Given the description of an element on the screen output the (x, y) to click on. 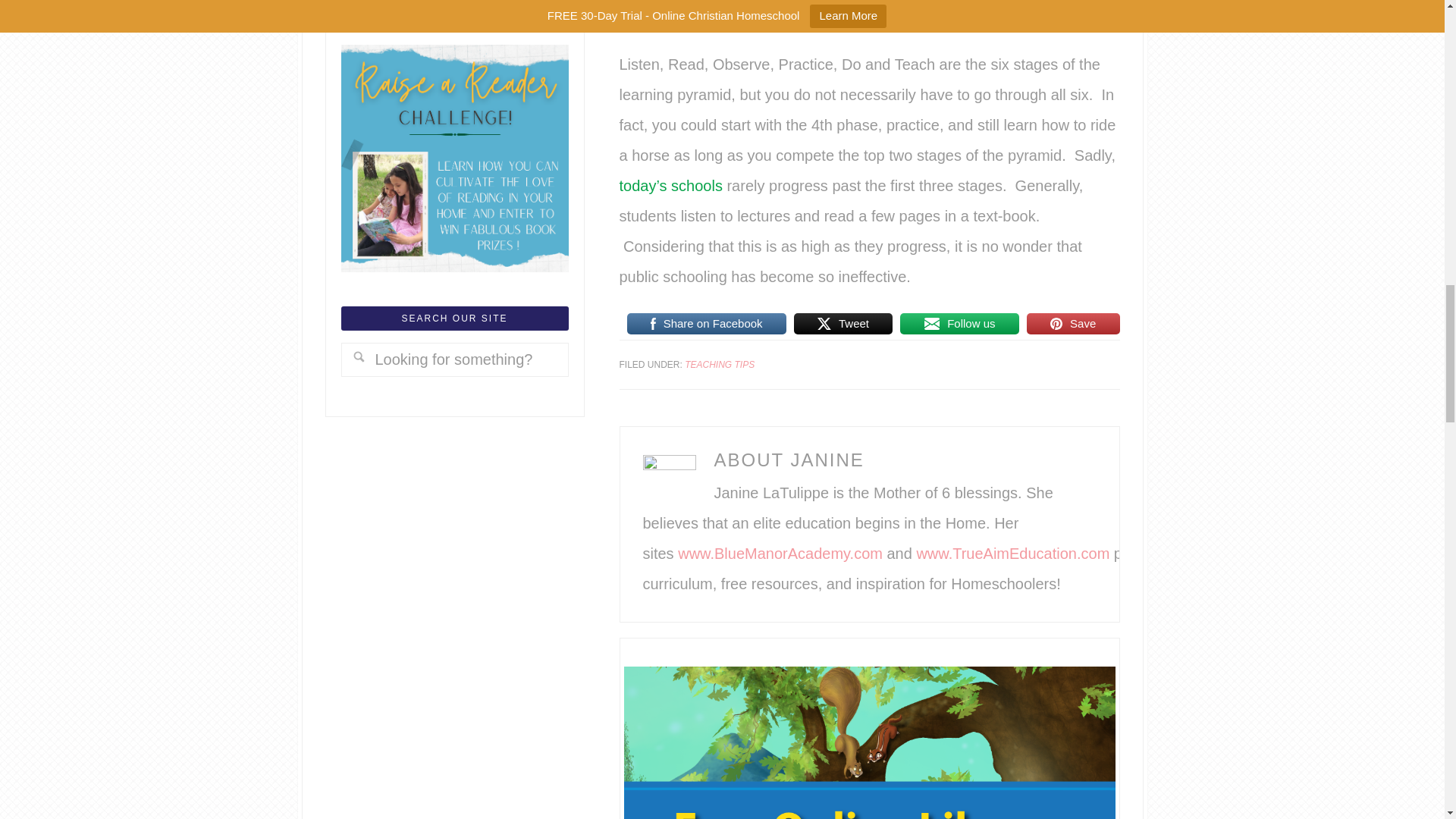
TEACHING TIPS (719, 364)
Save (1072, 323)
Tweet (842, 323)
Follow us (959, 323)
www.TrueAimEducation.com (1012, 553)
Share on Facebook (706, 323)
www.BlueManorAcademy.com (780, 553)
